Given the description of an element on the screen output the (x, y) to click on. 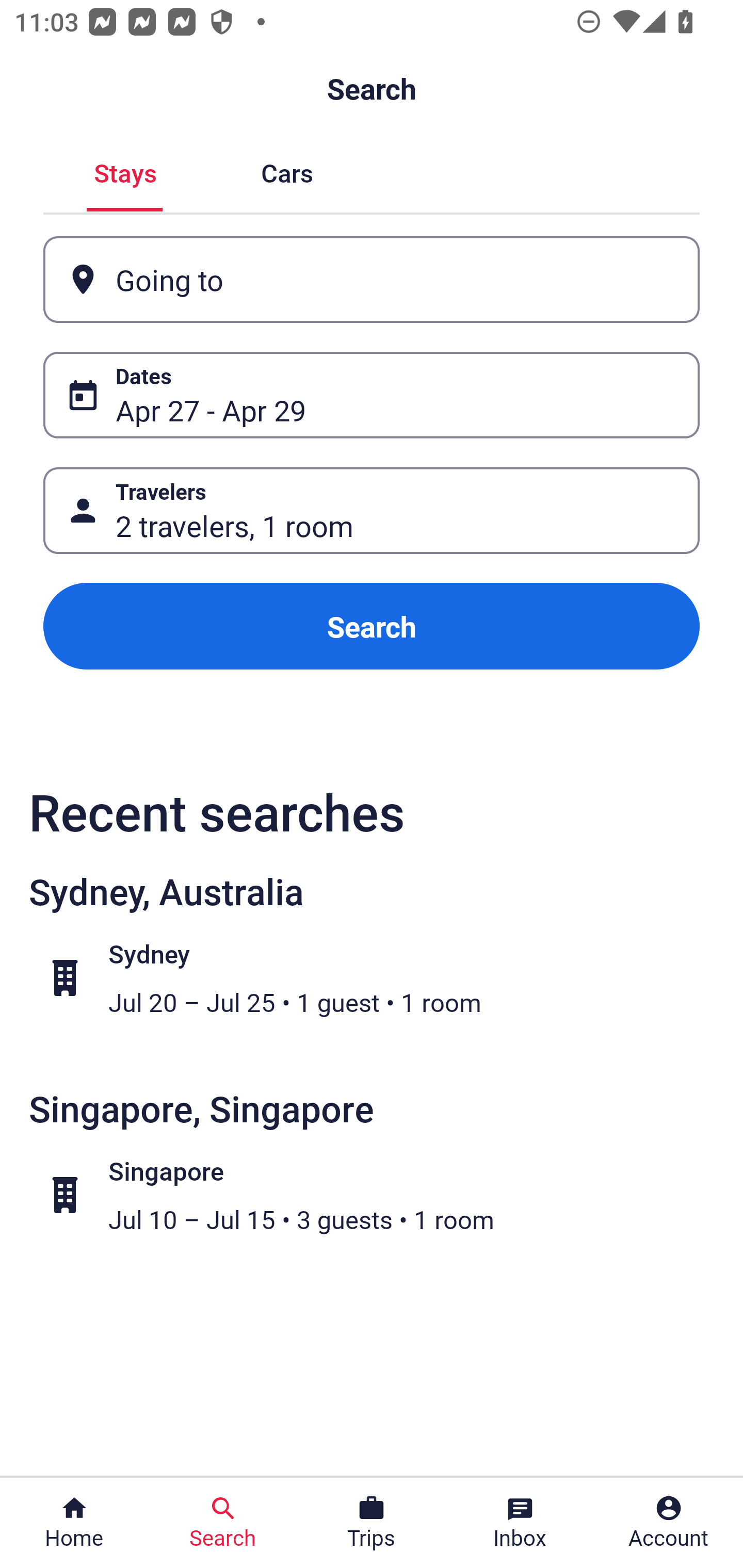
Cars (286, 171)
Going to Button (371, 279)
Dates Button Apr 27 - Apr 29 (371, 395)
Travelers Button 2 travelers, 1 room (371, 510)
Search (371, 626)
Sydney Jul 20 – Jul 25 • 1 guest • 1 room (382, 978)
Singapore Jul 10 – Jul 15 • 3 guests • 1 room (382, 1194)
Home Home Button (74, 1522)
Trips Trips Button (371, 1522)
Inbox Inbox Button (519, 1522)
Account Profile. Button (668, 1522)
